Given the description of an element on the screen output the (x, y) to click on. 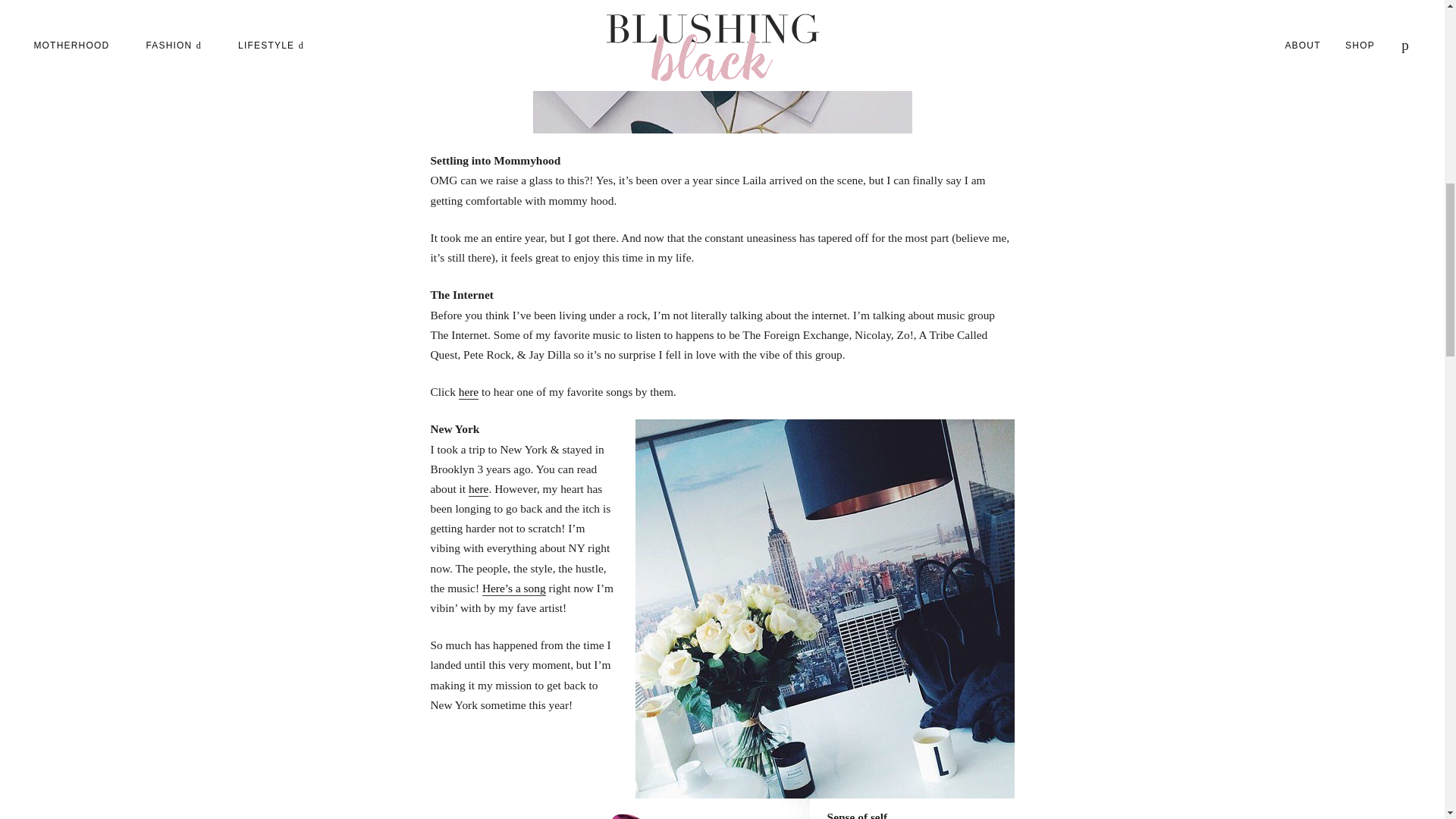
here (468, 391)
